Given the description of an element on the screen output the (x, y) to click on. 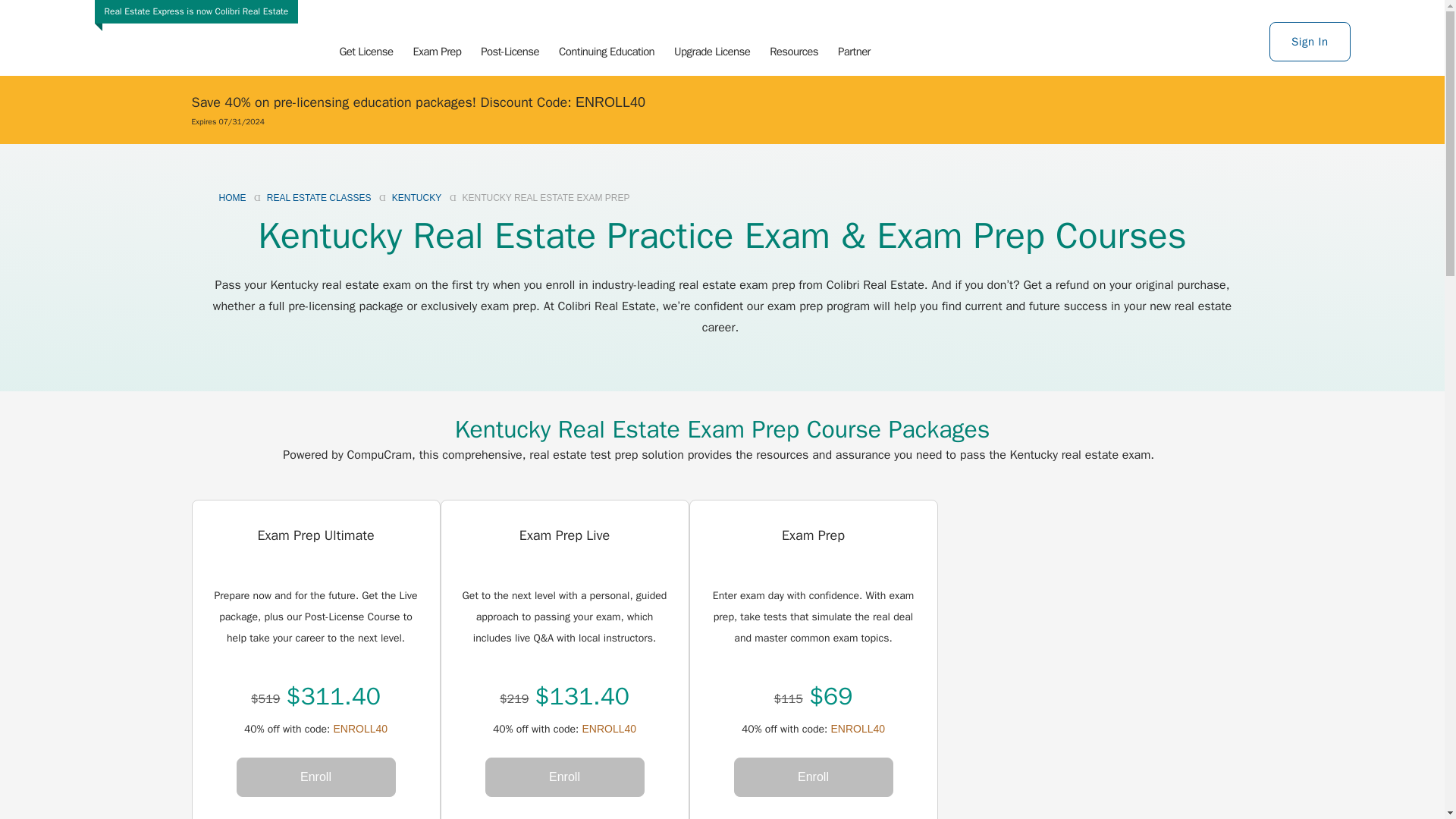
You are here (544, 197)
McKissock Learning Logo (211, 38)
Get License (366, 51)
Regular price (264, 699)
Regular price (513, 699)
Regular price (788, 699)
